Given the description of an element on the screen output the (x, y) to click on. 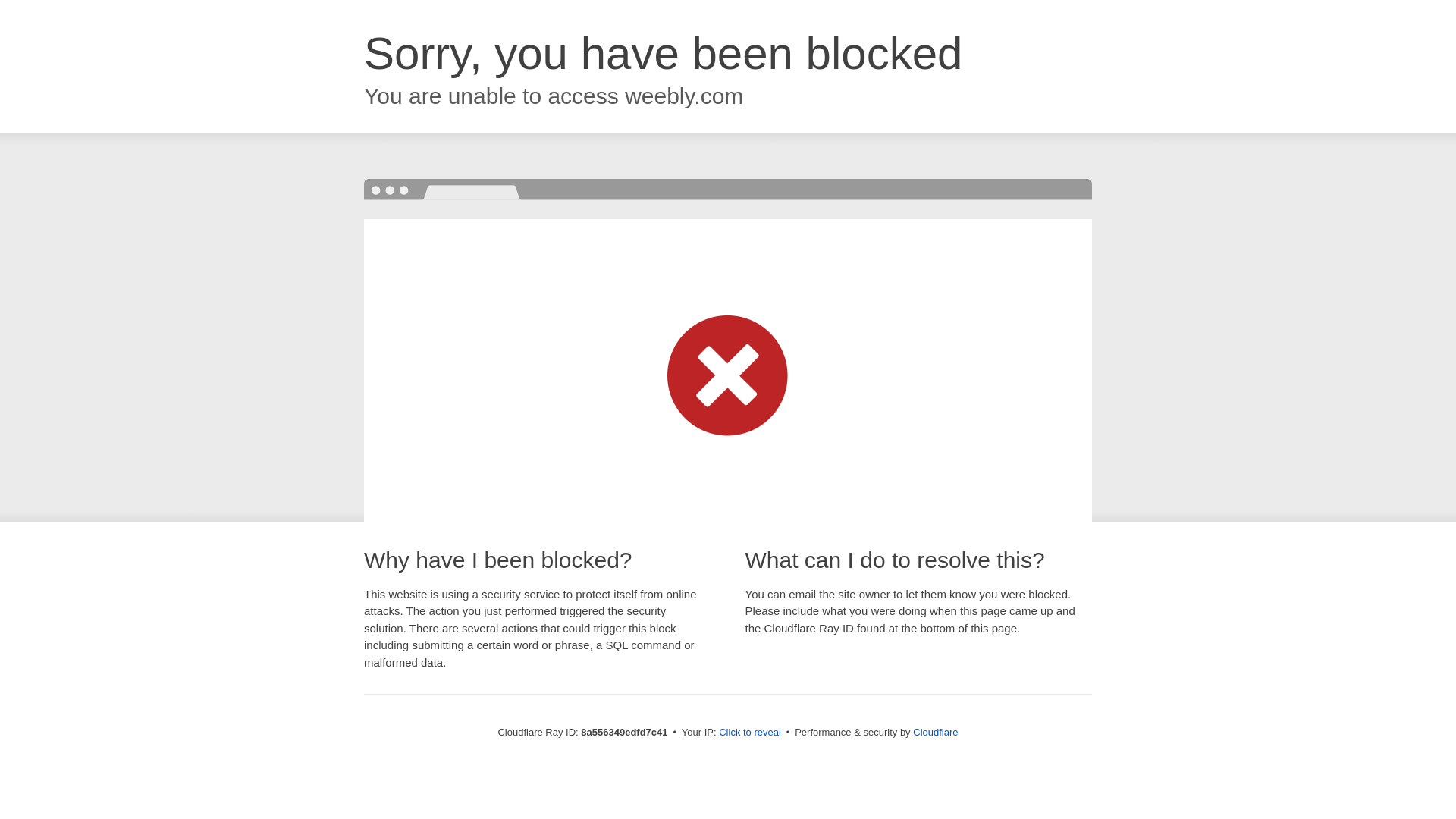
Click to reveal (749, 732)
Cloudflare (935, 731)
